Given the description of an element on the screen output the (x, y) to click on. 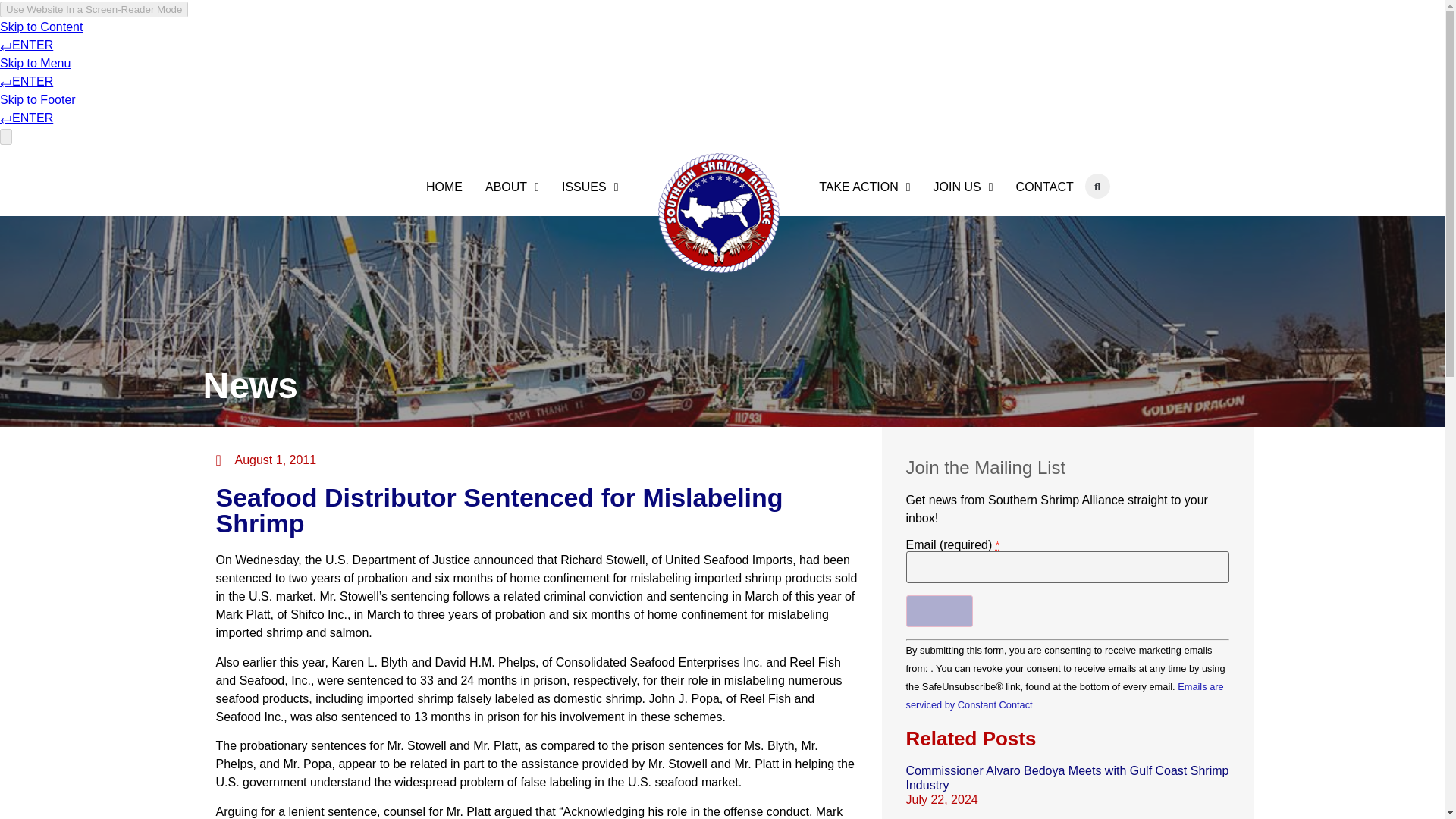
Sign up (938, 611)
